Given the description of an element on the screen output the (x, y) to click on. 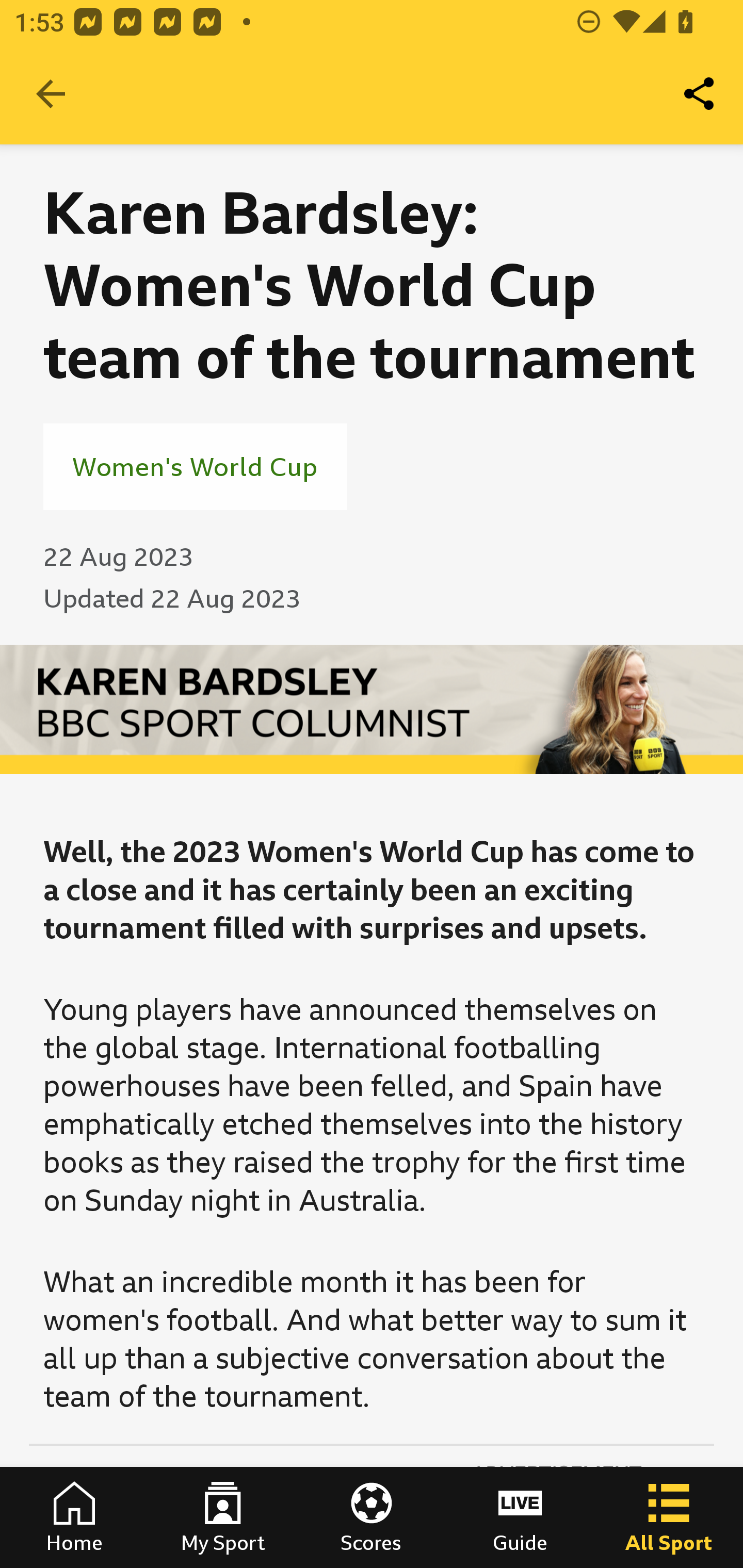
Navigate up (50, 93)
Share (699, 93)
Women's World Cup (194, 466)
Home (74, 1517)
My Sport (222, 1517)
Scores (371, 1517)
Guide (519, 1517)
